Given the description of an element on the screen output the (x, y) to click on. 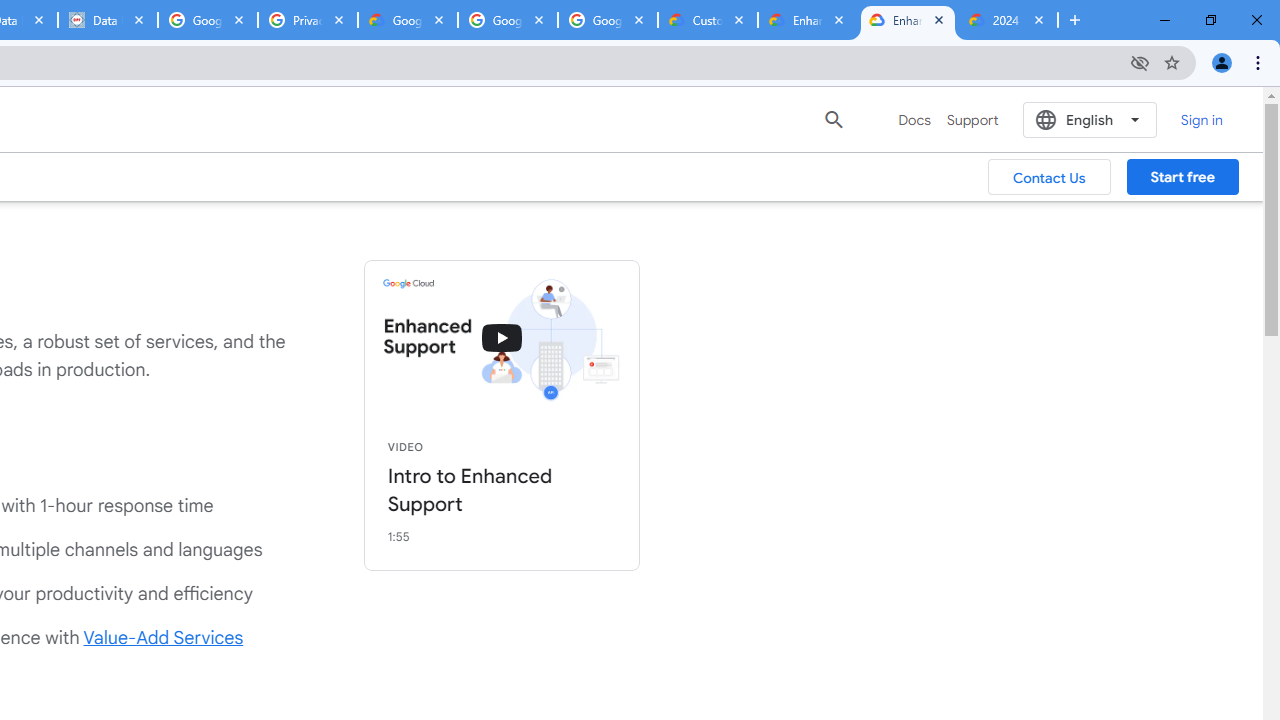
Enhanced Support | Google Cloud (807, 20)
Customer Care | Google Cloud (707, 20)
Value-Add Services (163, 637)
Enhanced Support | Google Cloud (907, 20)
Data Privacy Framework (107, 20)
Docs (914, 119)
Contact Us (1049, 177)
Support (972, 119)
Google Workspace - Specific Terms (508, 20)
